Given the description of an element on the screen output the (x, y) to click on. 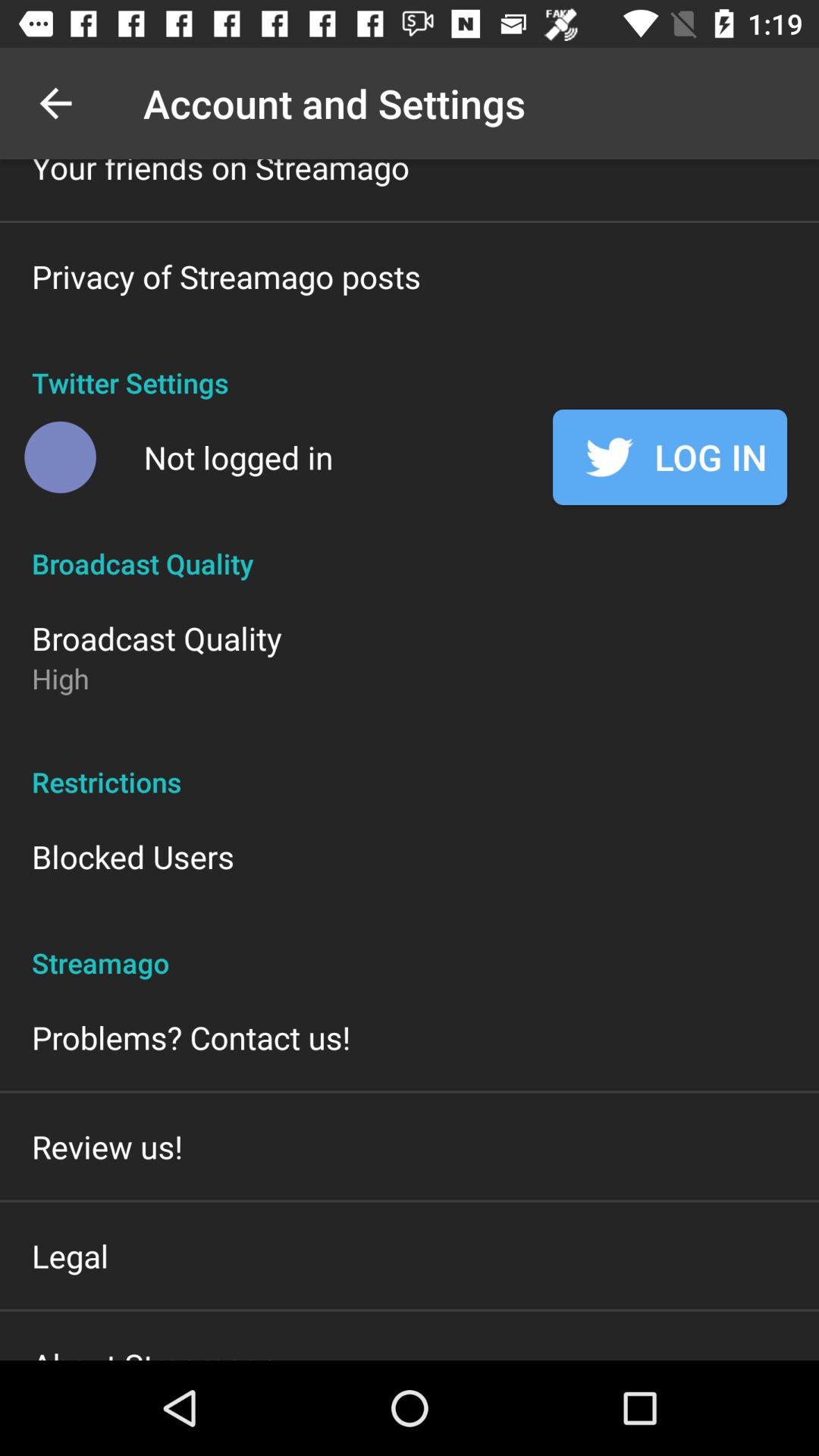
turn off icon below the twitter settings item (238, 456)
